Given the description of an element on the screen output the (x, y) to click on. 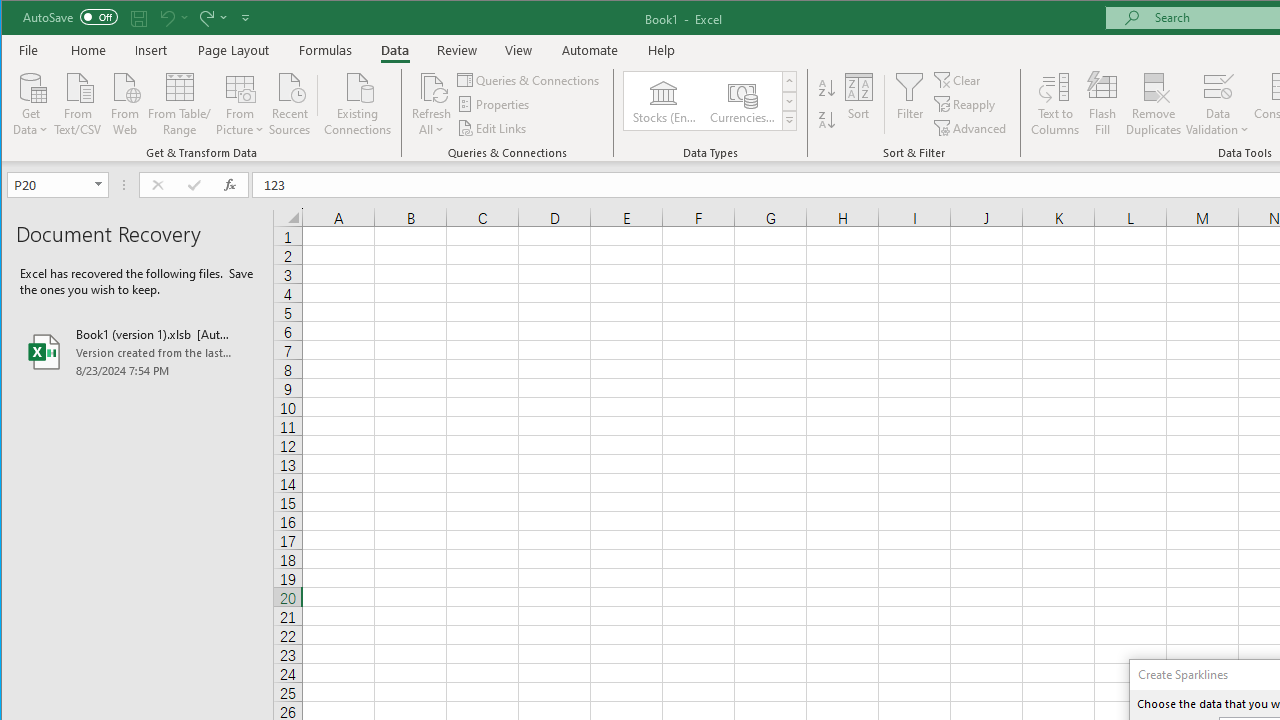
From Web (124, 101)
Currencies (English) (741, 100)
Clear (958, 80)
